Given the description of an element on the screen output the (x, y) to click on. 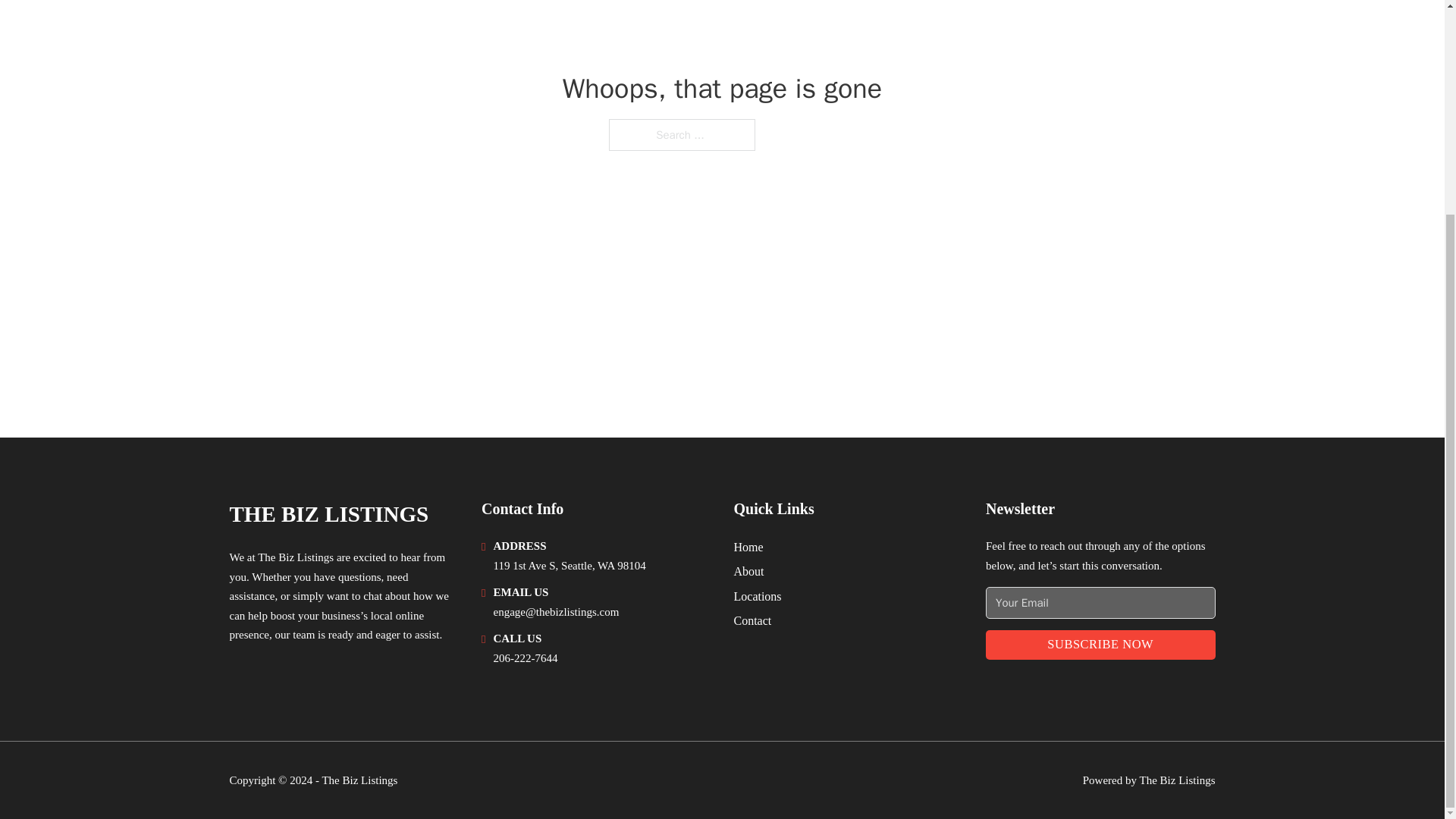
Contact (752, 620)
Home (747, 547)
About (748, 571)
THE BIZ LISTINGS (328, 514)
Locations (757, 596)
206-222-7644 (525, 657)
SUBSCRIBE NOW (1100, 644)
